Given the description of an element on the screen output the (x, y) to click on. 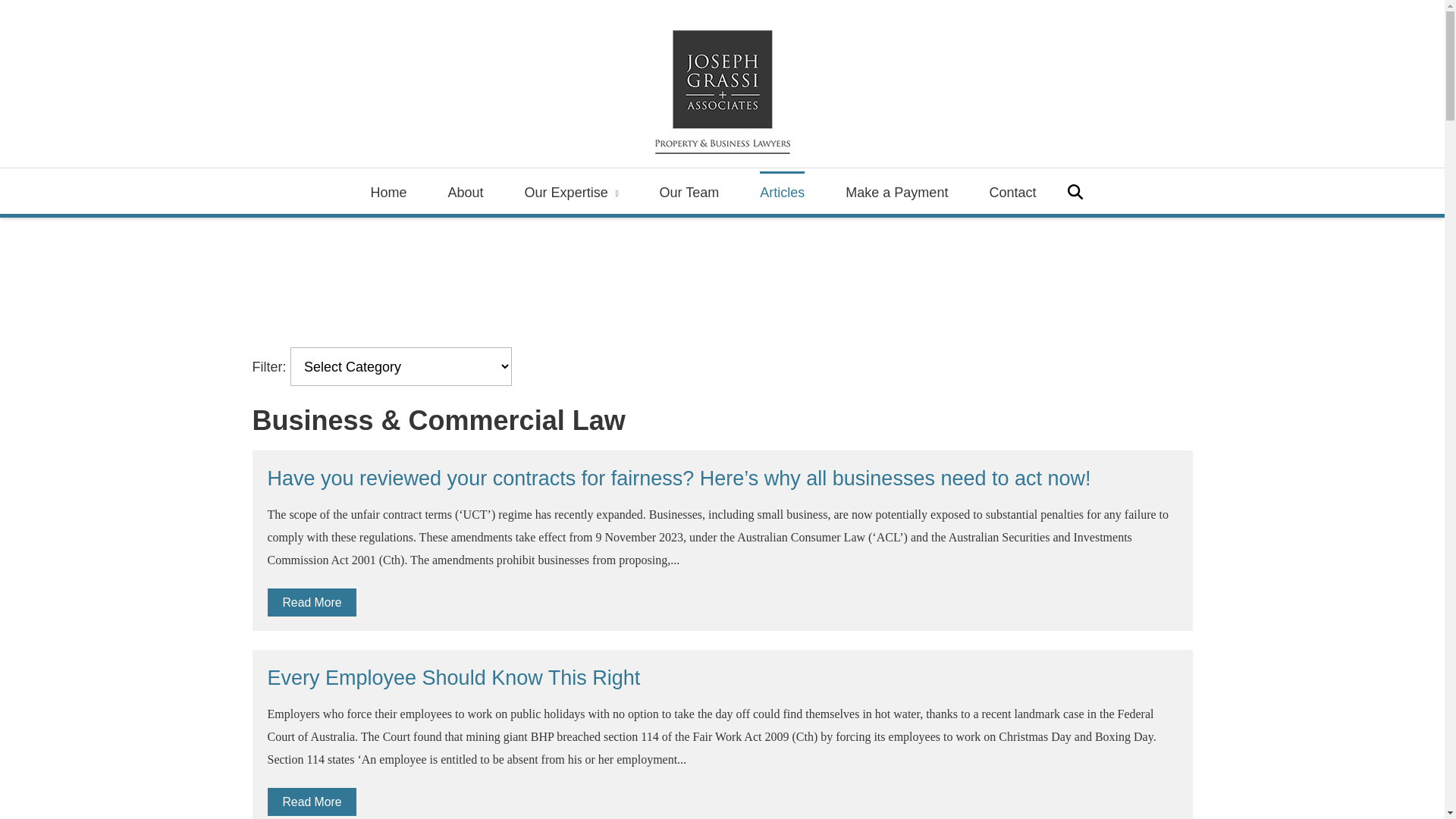
Home Element type: text (388, 191)
Read More Element type: text (311, 801)
Make a Payment Element type: text (896, 191)
Contact Element type: text (1012, 191)
Our Expertise Element type: text (571, 191)
Every Employee Should Know This Right Element type: text (453, 677)
Read More Element type: text (311, 602)
Our Team Element type: text (689, 191)
About Element type: text (465, 191)
Articles Element type: text (782, 191)
